Given the description of an element on the screen output the (x, y) to click on. 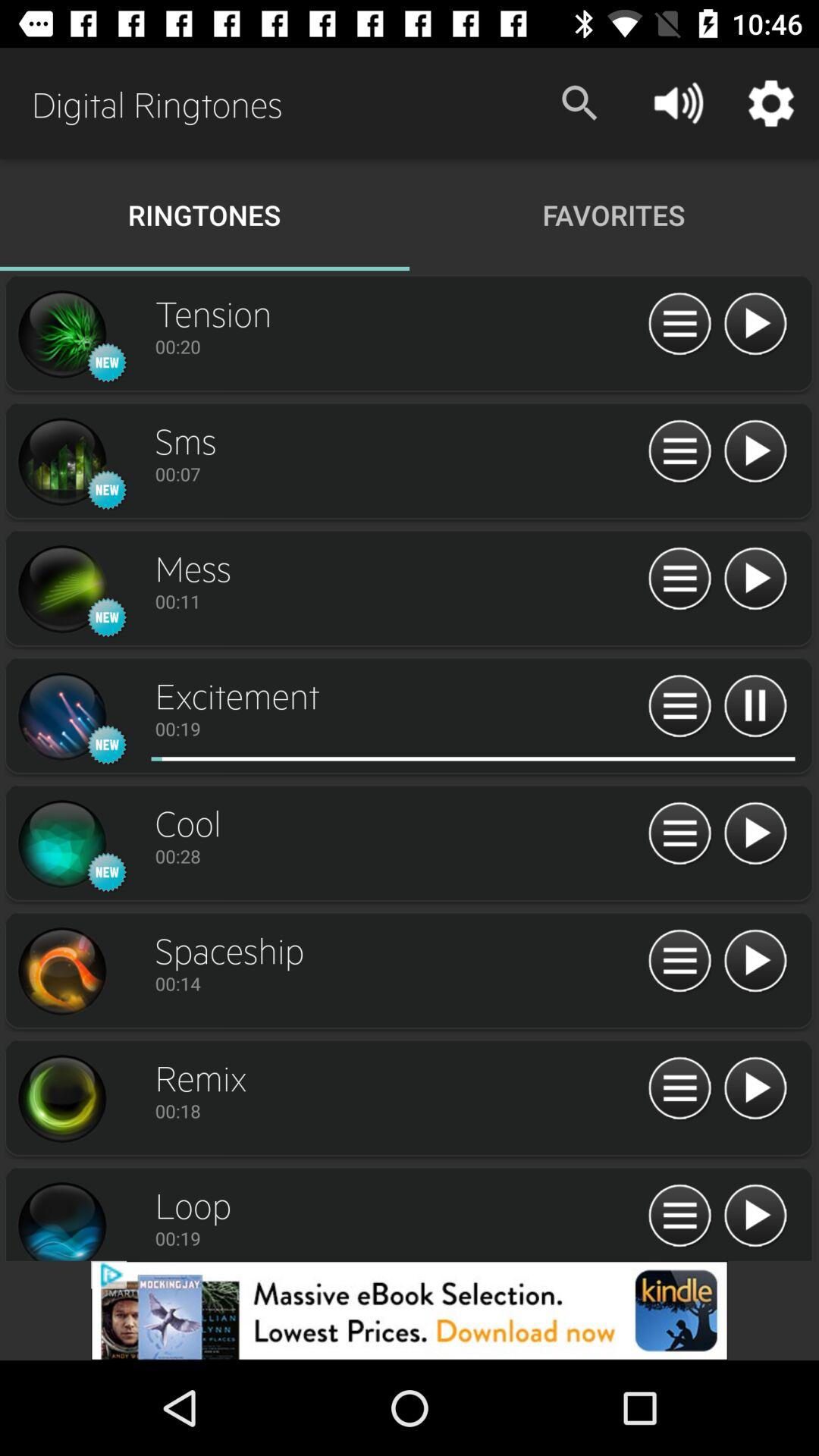
menu page (679, 1088)
